Given the description of an element on the screen output the (x, y) to click on. 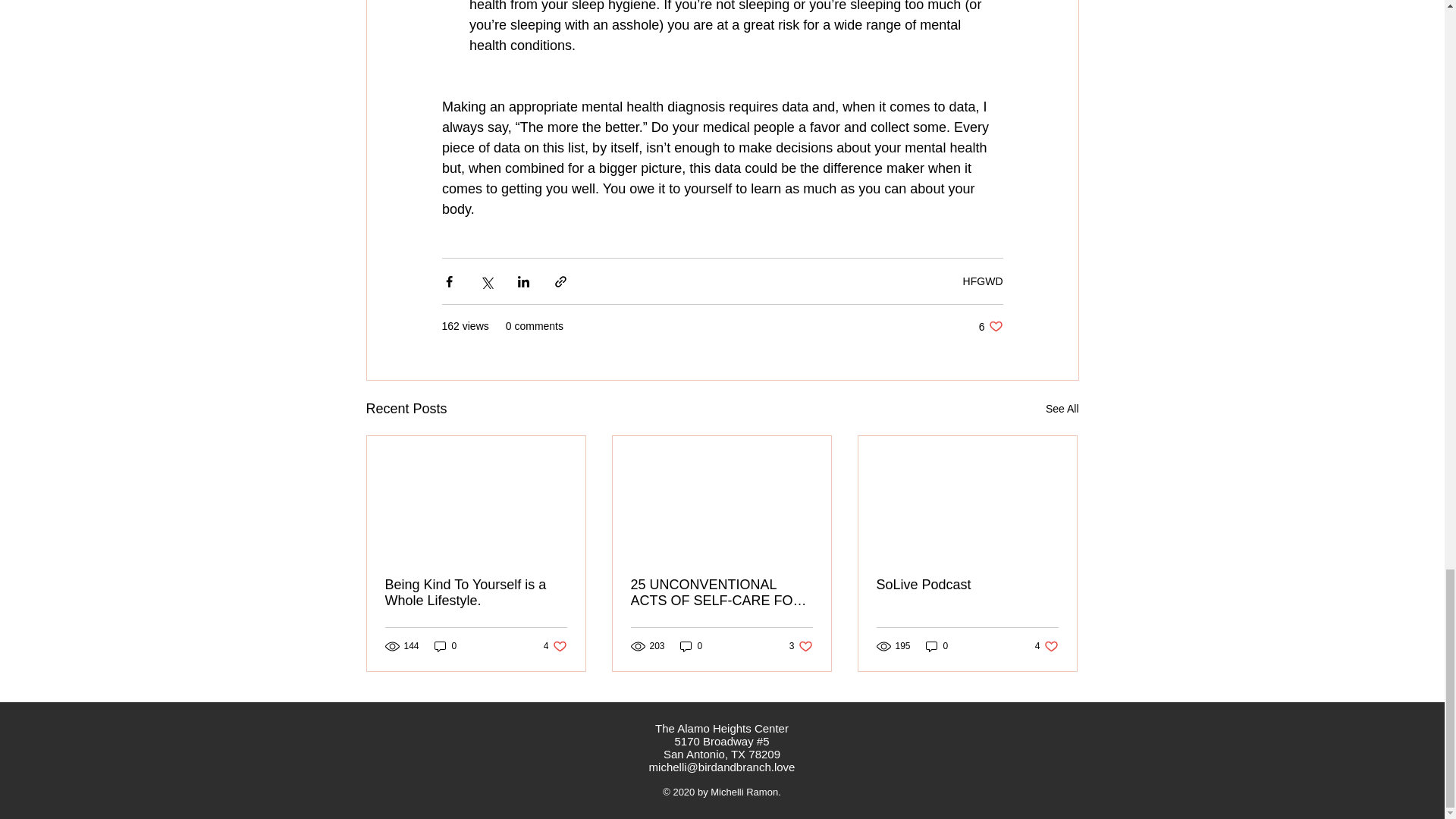
SoLive Podcast (967, 584)
HFGWD (982, 281)
Being Kind To Yourself is a Whole Lifestyle. (476, 593)
See All (1061, 409)
0 (1046, 646)
0 (800, 646)
